Given the description of an element on the screen output the (x, y) to click on. 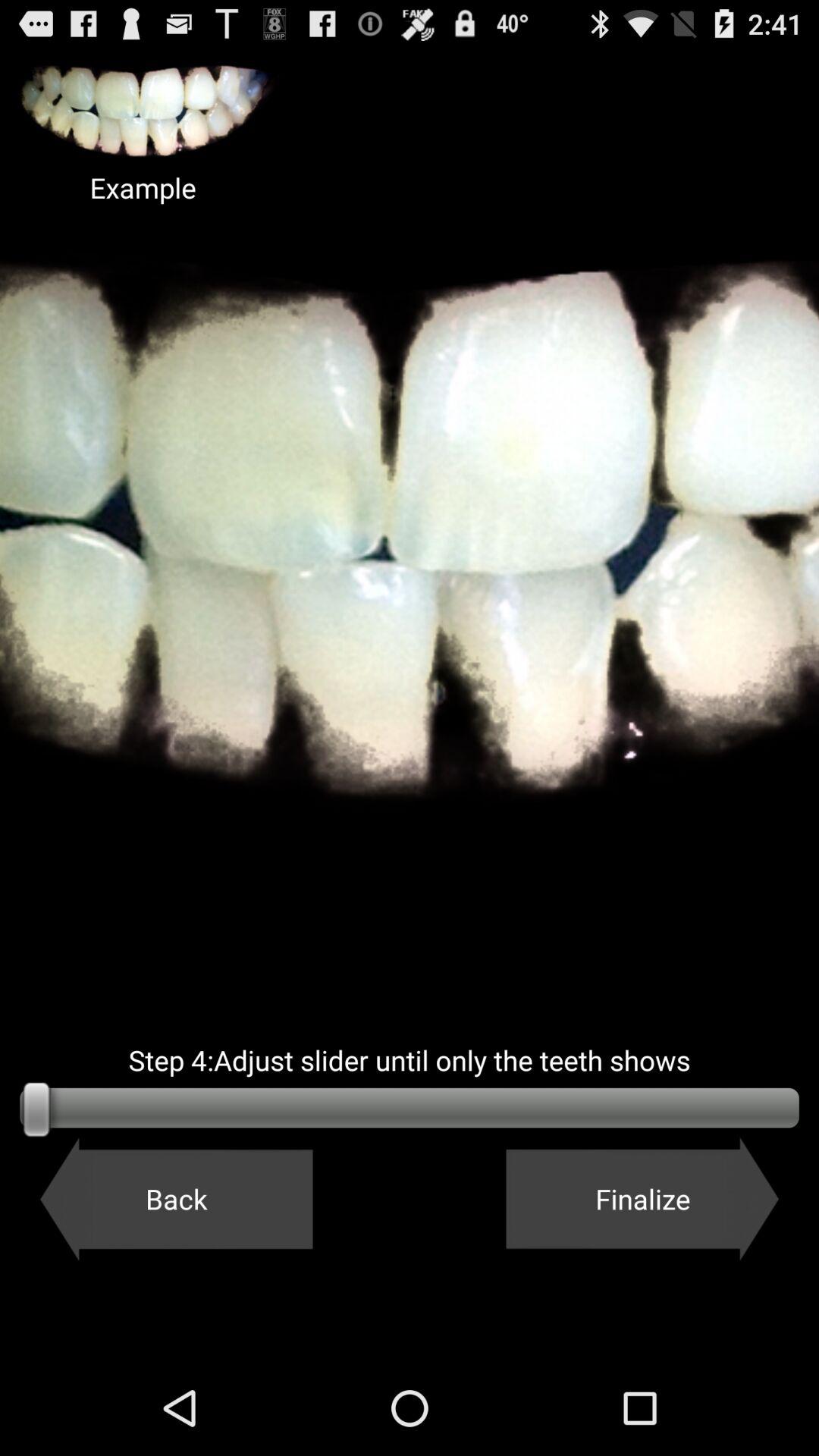
open the back at the bottom left corner (175, 1198)
